Given the description of an element on the screen output the (x, y) to click on. 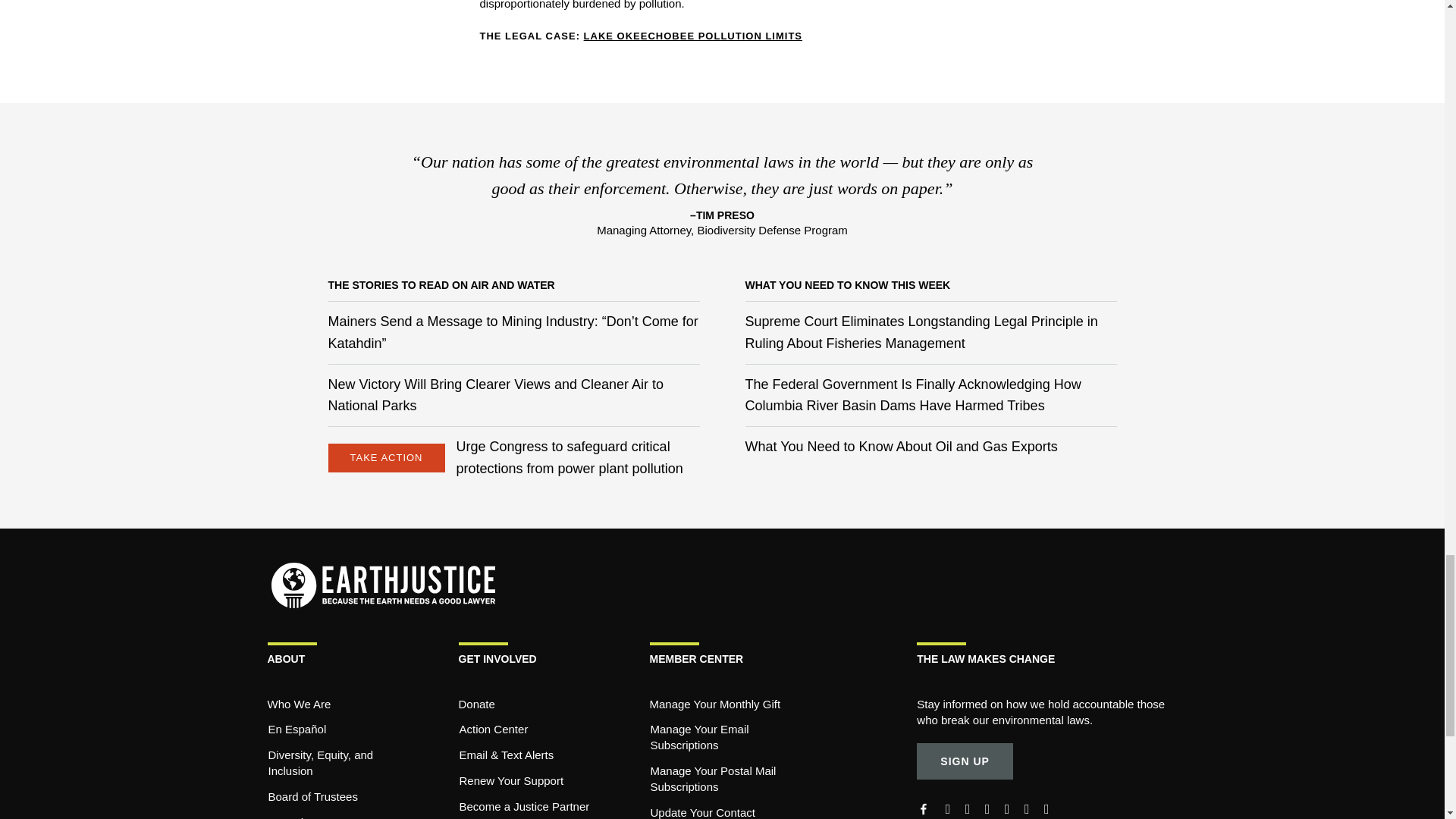
Lake Okeechobee Pollution Limits (692, 35)
What You Need to Know About Oil and Gas Exports (900, 446)
